Given the description of an element on the screen output the (x, y) to click on. 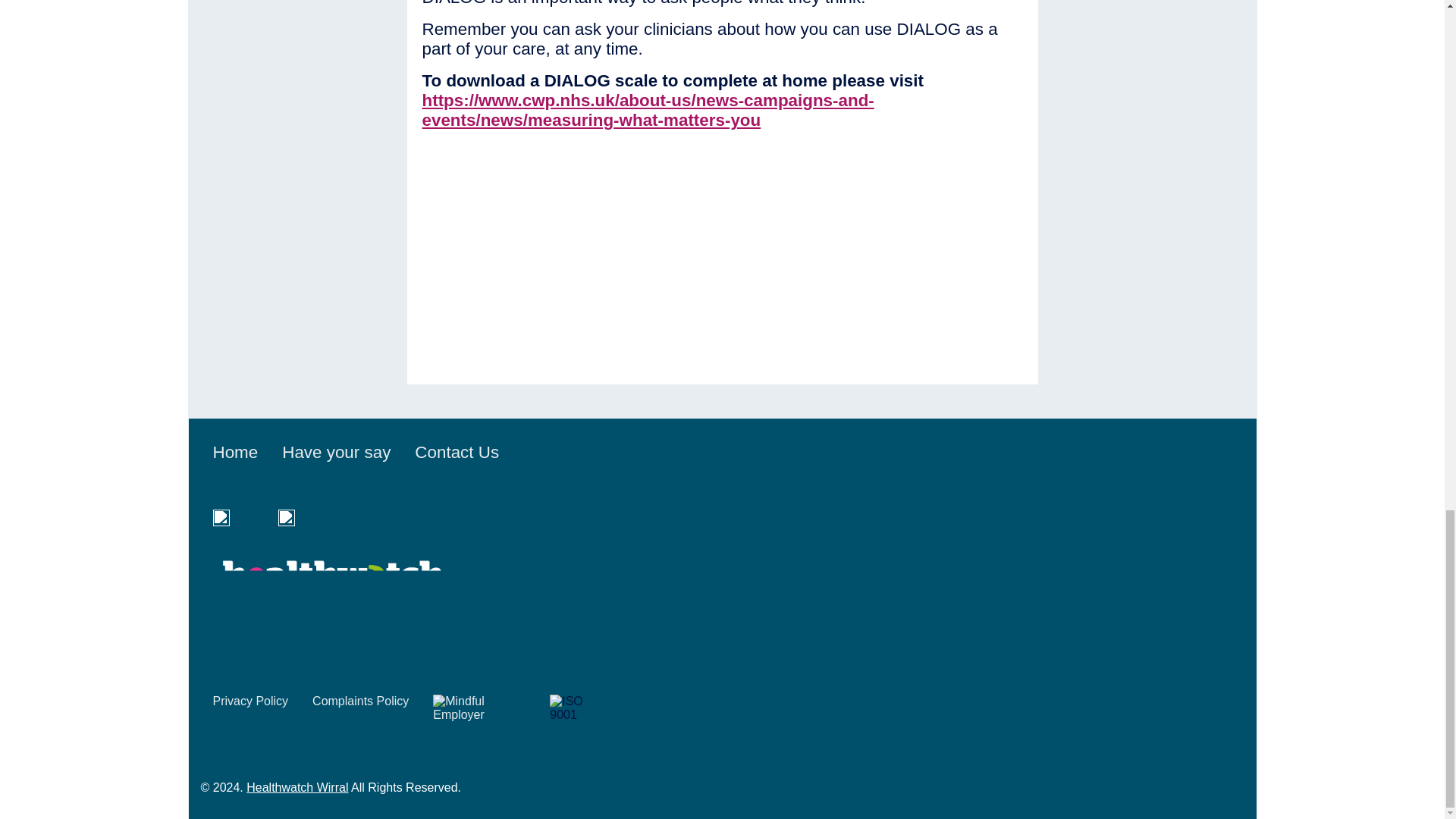
Contact Us (456, 452)
Home (234, 452)
Have your say (336, 452)
